Given the description of an element on the screen output the (x, y) to click on. 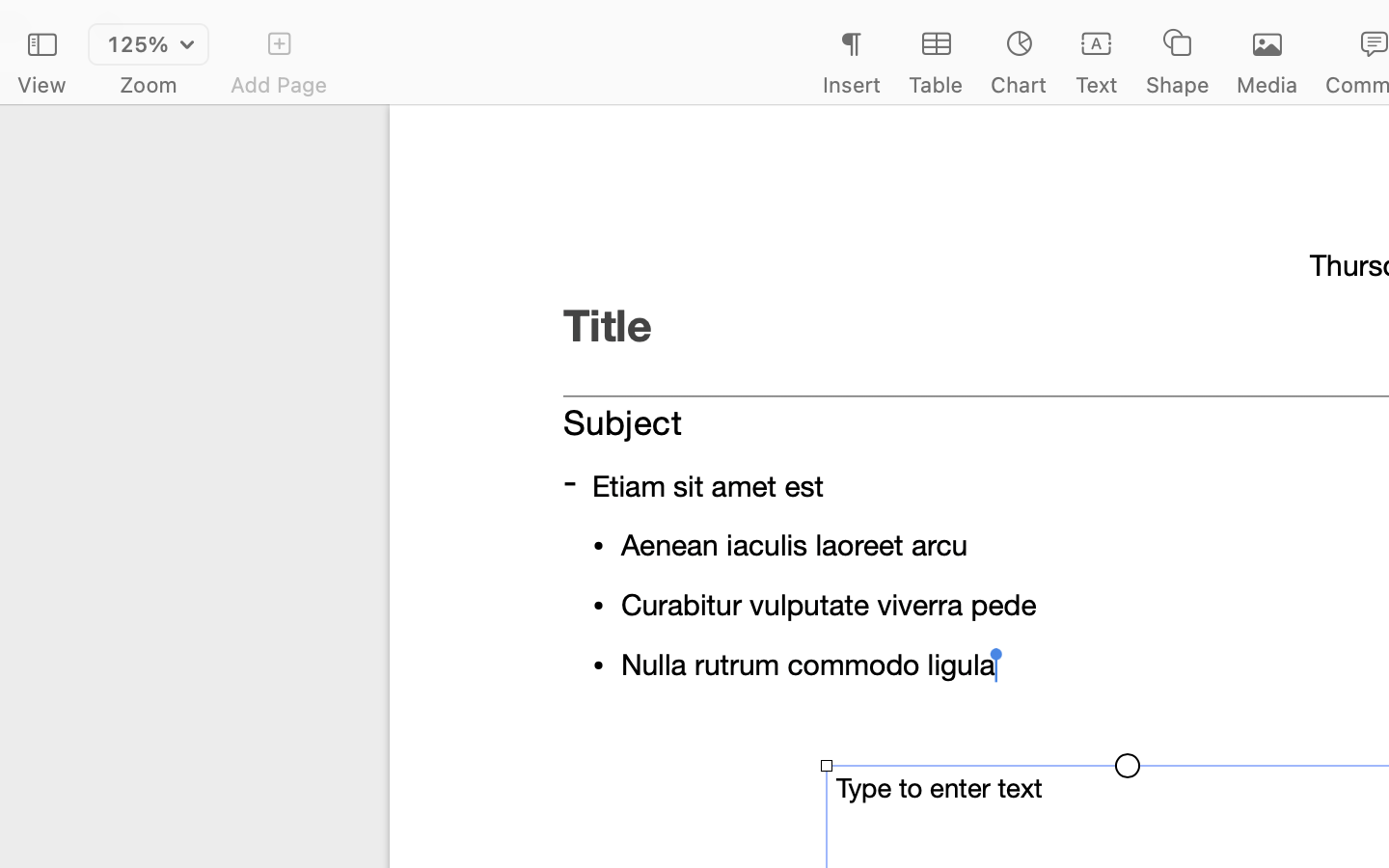
Untitled Element type: AXStaticText (1334, 24)
Media Element type: AXStaticText (1267, 84)
